Given the description of an element on the screen output the (x, y) to click on. 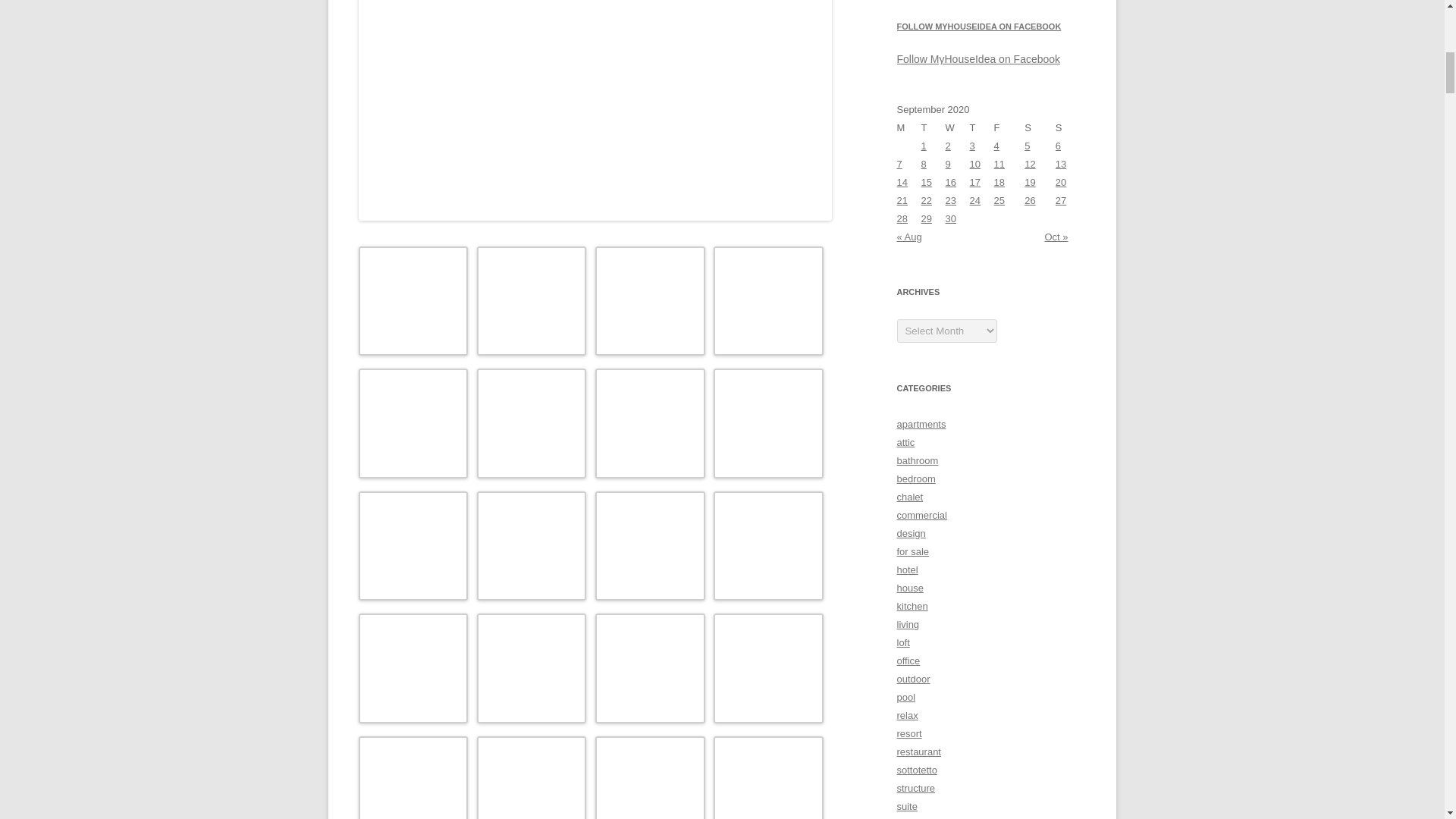
Monday (908, 127)
Tuesday (932, 127)
